Given the description of an element on the screen output the (x, y) to click on. 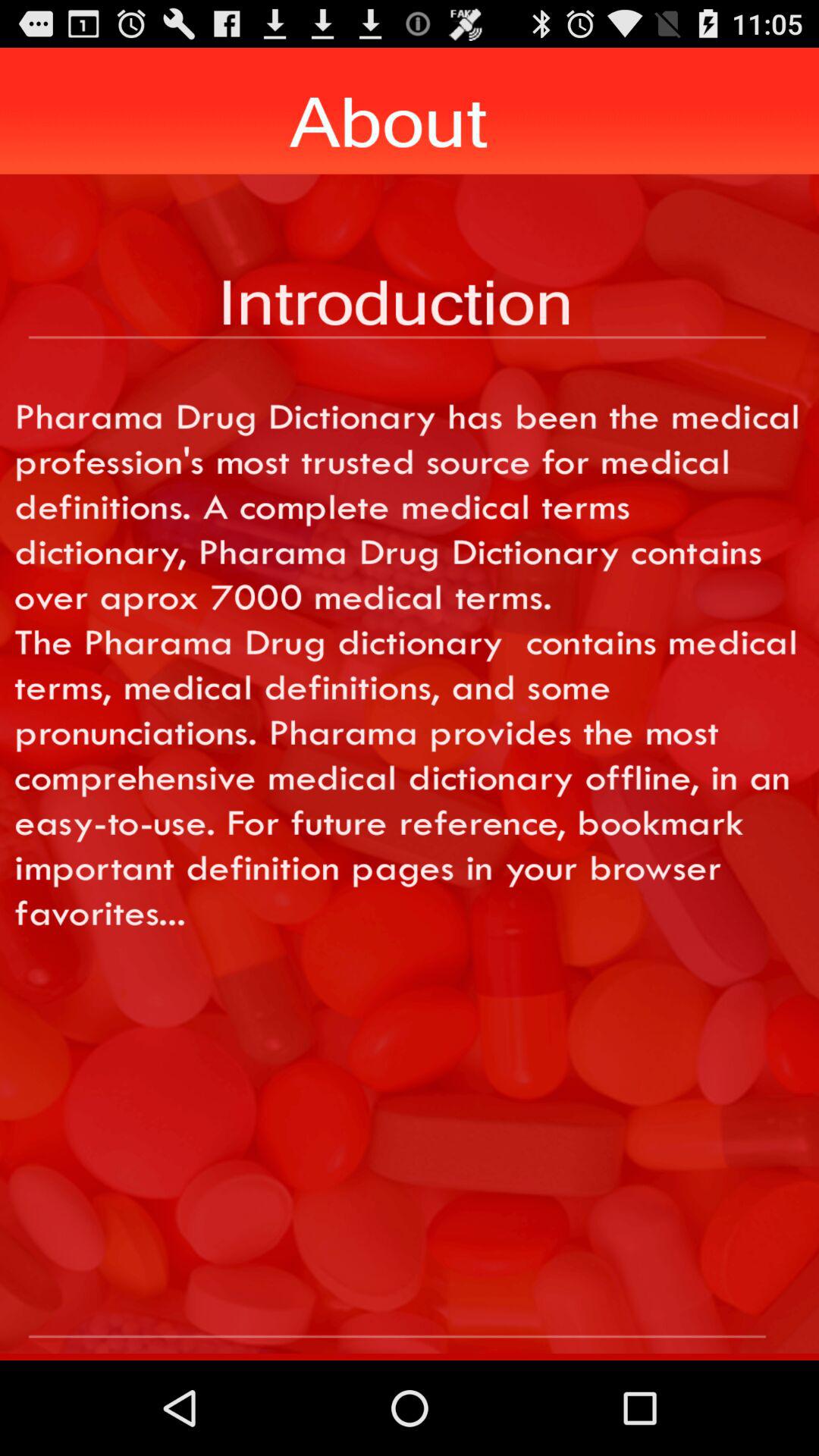
new pega (409, 1310)
